Given the description of an element on the screen output the (x, y) to click on. 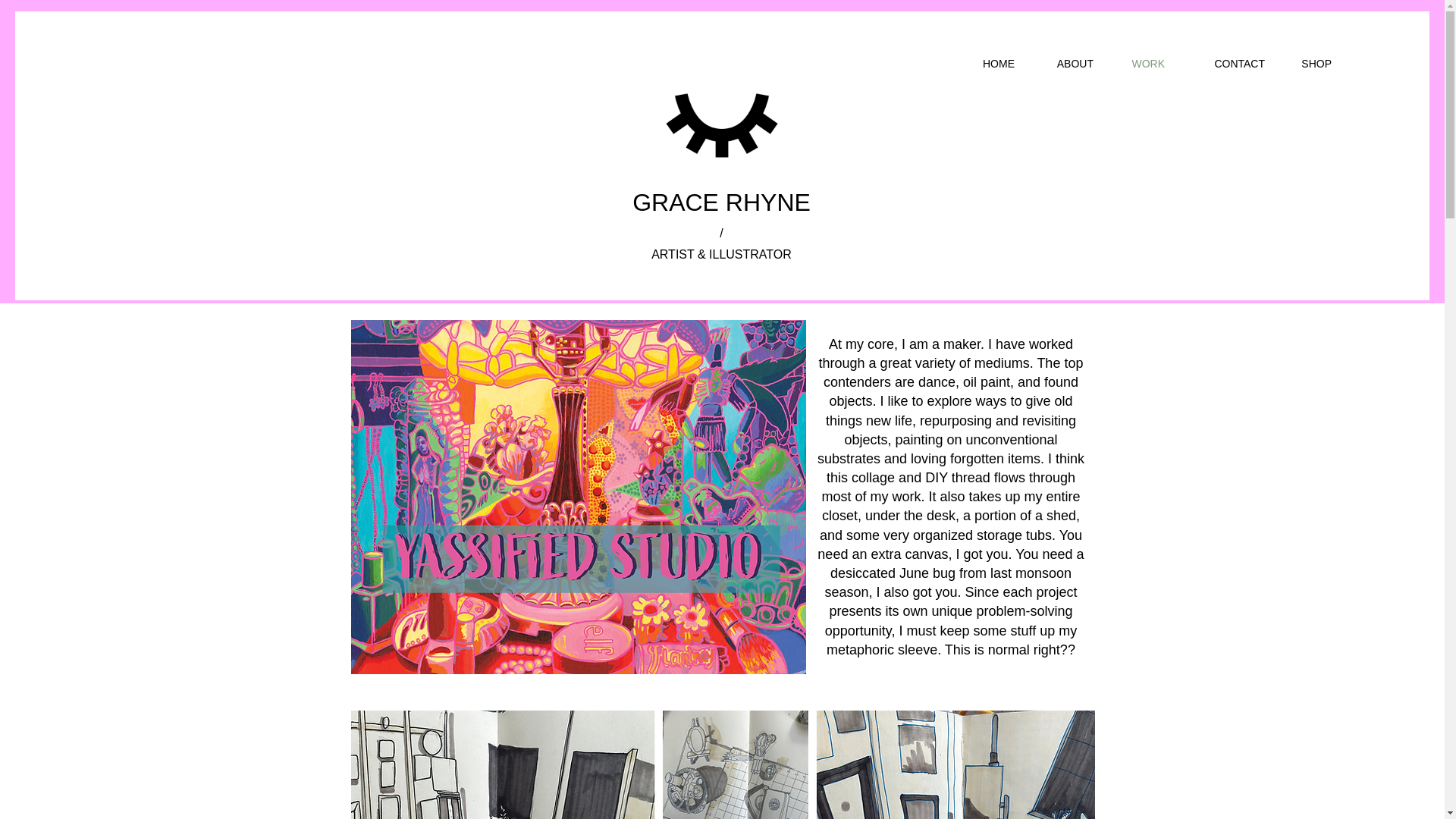
brit 1 .png (722, 764)
HOME (991, 63)
ABOUT (1065, 63)
CONTACT (1226, 63)
WORK (1140, 63)
GRACE RHYNE (720, 202)
SHOP (1309, 63)
